Given the description of an element on the screen output the (x, y) to click on. 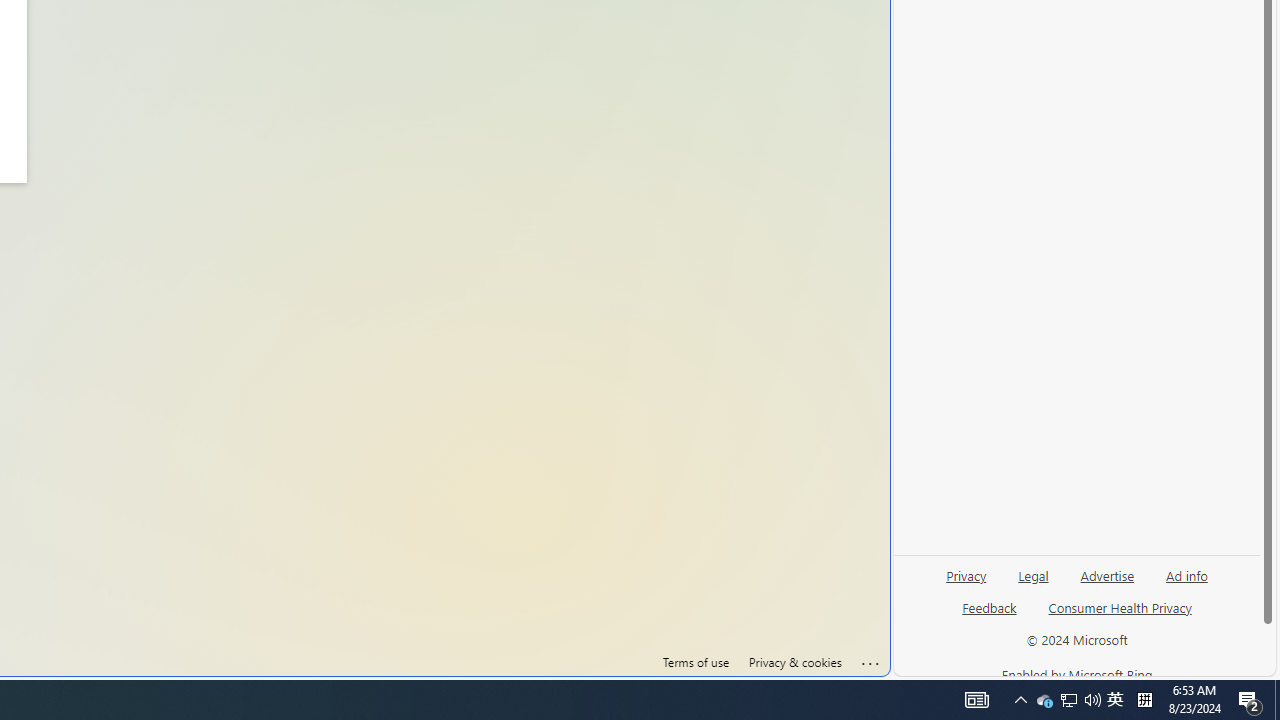
Consumer Health Privacy (1119, 607)
Ad info (1187, 574)
google_privacy_policy_zh-CN.pdf (687, 482)
